Given the description of an element on the screen output the (x, y) to click on. 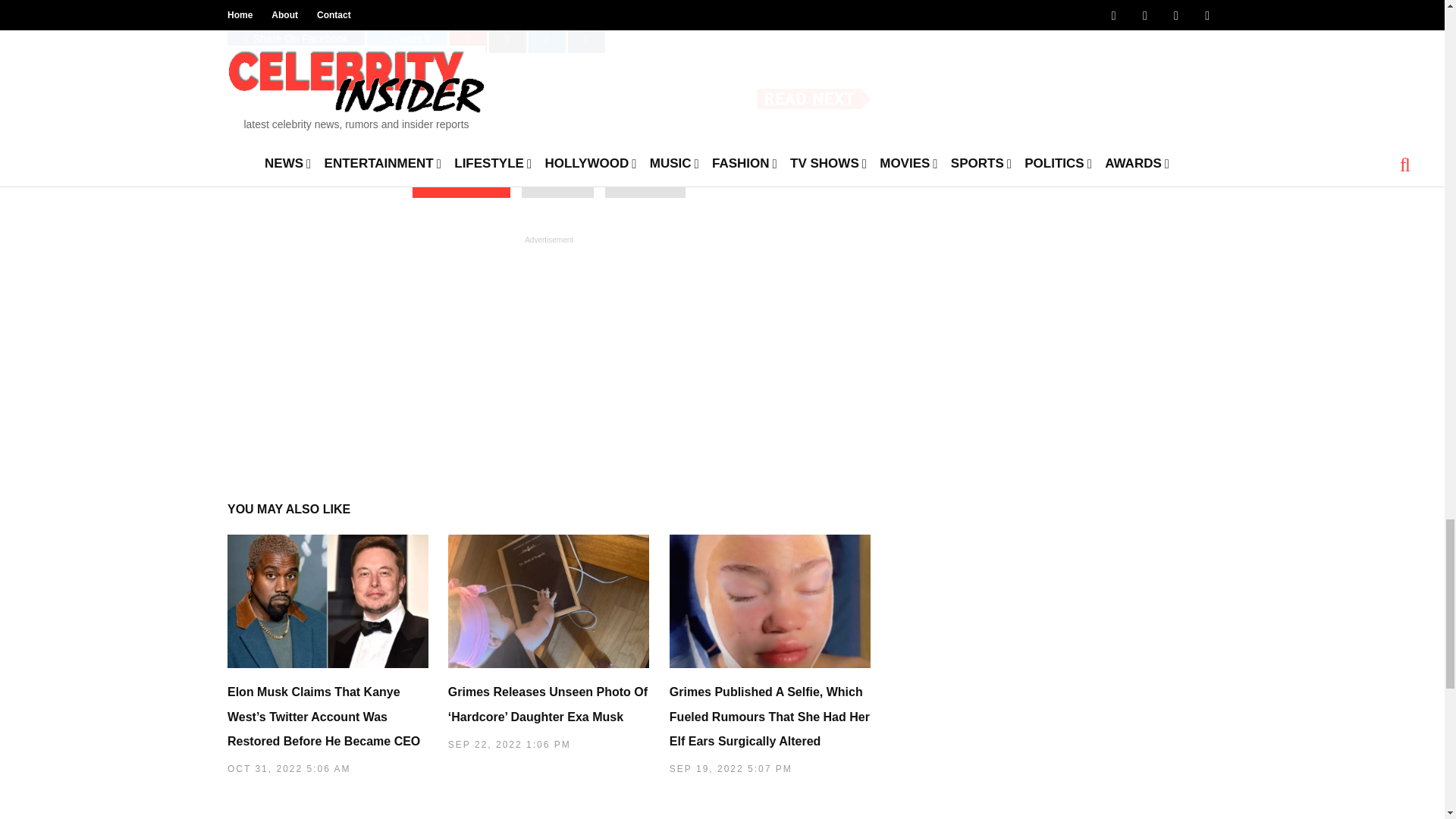
Share On Tumblr (586, 39)
Share On Pinterest (467, 39)
Share On Twitter (406, 39)
Share On Facebook (296, 39)
Share On Reddit (507, 39)
Share On Linkedin (547, 39)
